Given the description of an element on the screen output the (x, y) to click on. 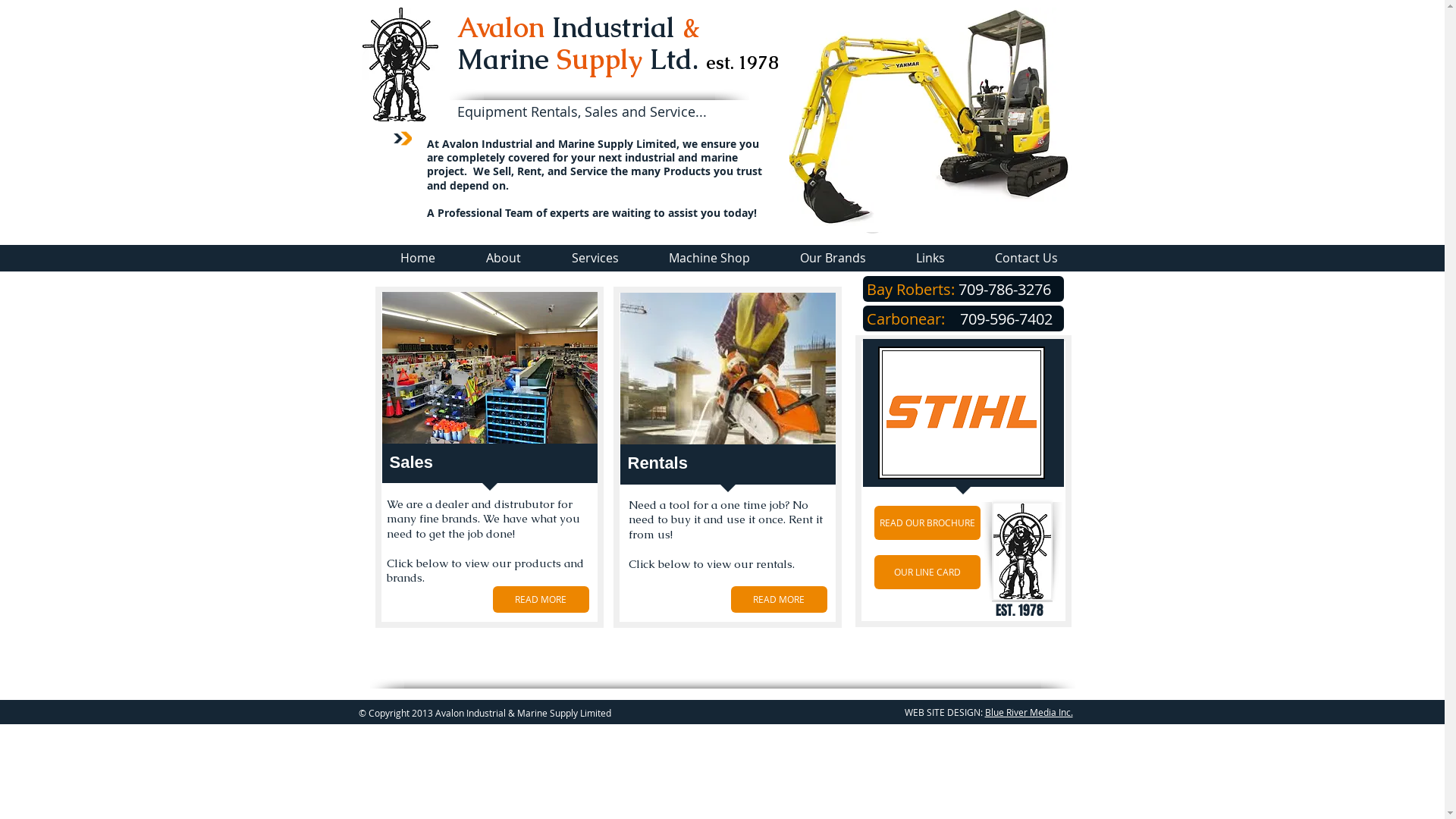
READ OUR BROCHURE Element type: text (926, 522)
OUR LINE CARD Element type: text (926, 572)
Blue River Media Inc. Element type: text (1028, 712)
Our Brands Element type: text (833, 257)
Contact Us Element type: text (1025, 257)
Machine Shop Element type: text (708, 257)
About Element type: text (503, 257)
READ MORE Element type: text (540, 599)
Home Element type: text (417, 257)
READ MORE Element type: text (779, 599)
Links Element type: text (929, 257)
Services Element type: text (594, 257)
